Given the description of an element on the screen output the (x, y) to click on. 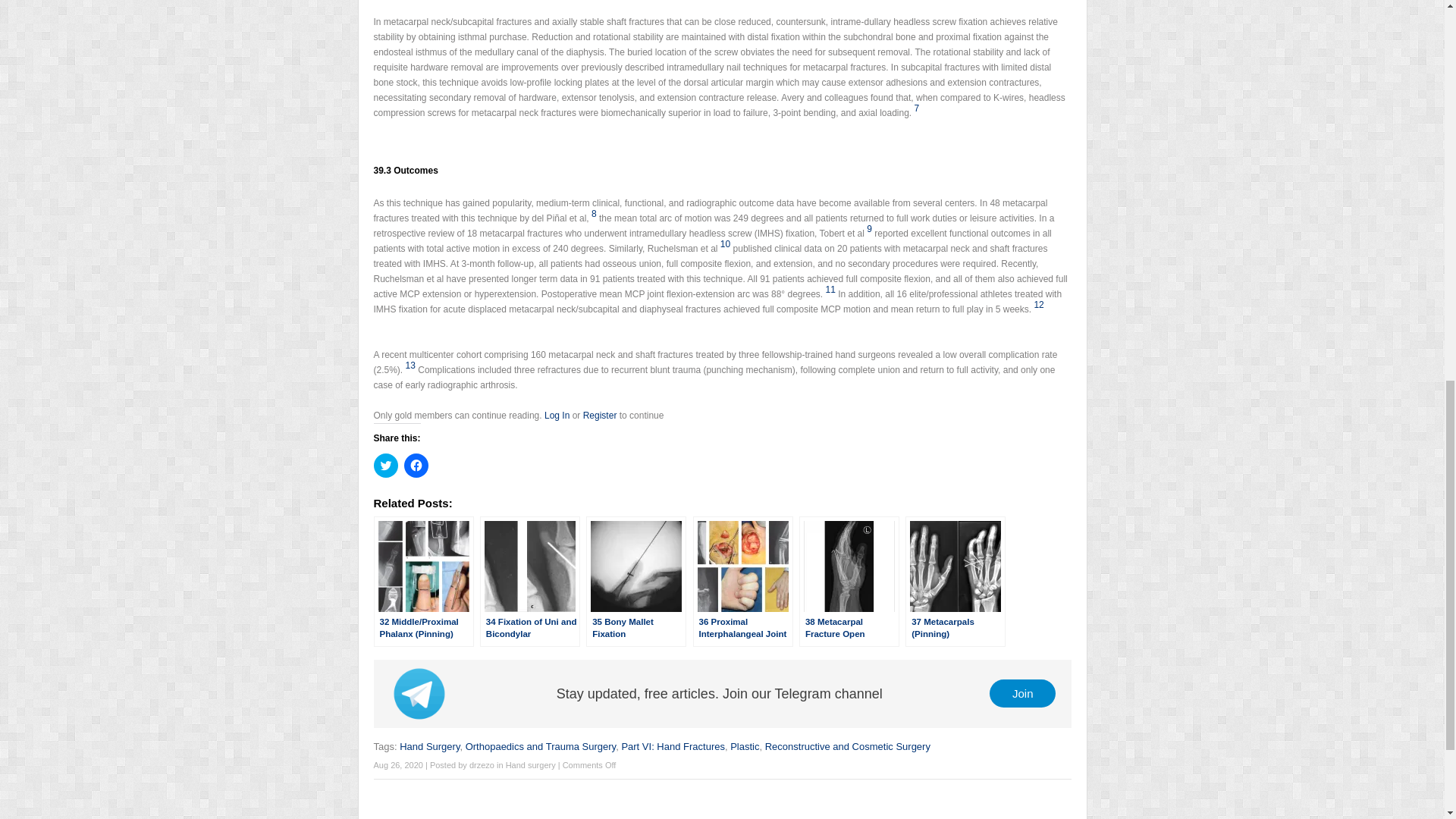
Click to share on Facebook (415, 465)
Posts by drzezo (481, 764)
Click to share on Twitter (384, 465)
